Given the description of an element on the screen output the (x, y) to click on. 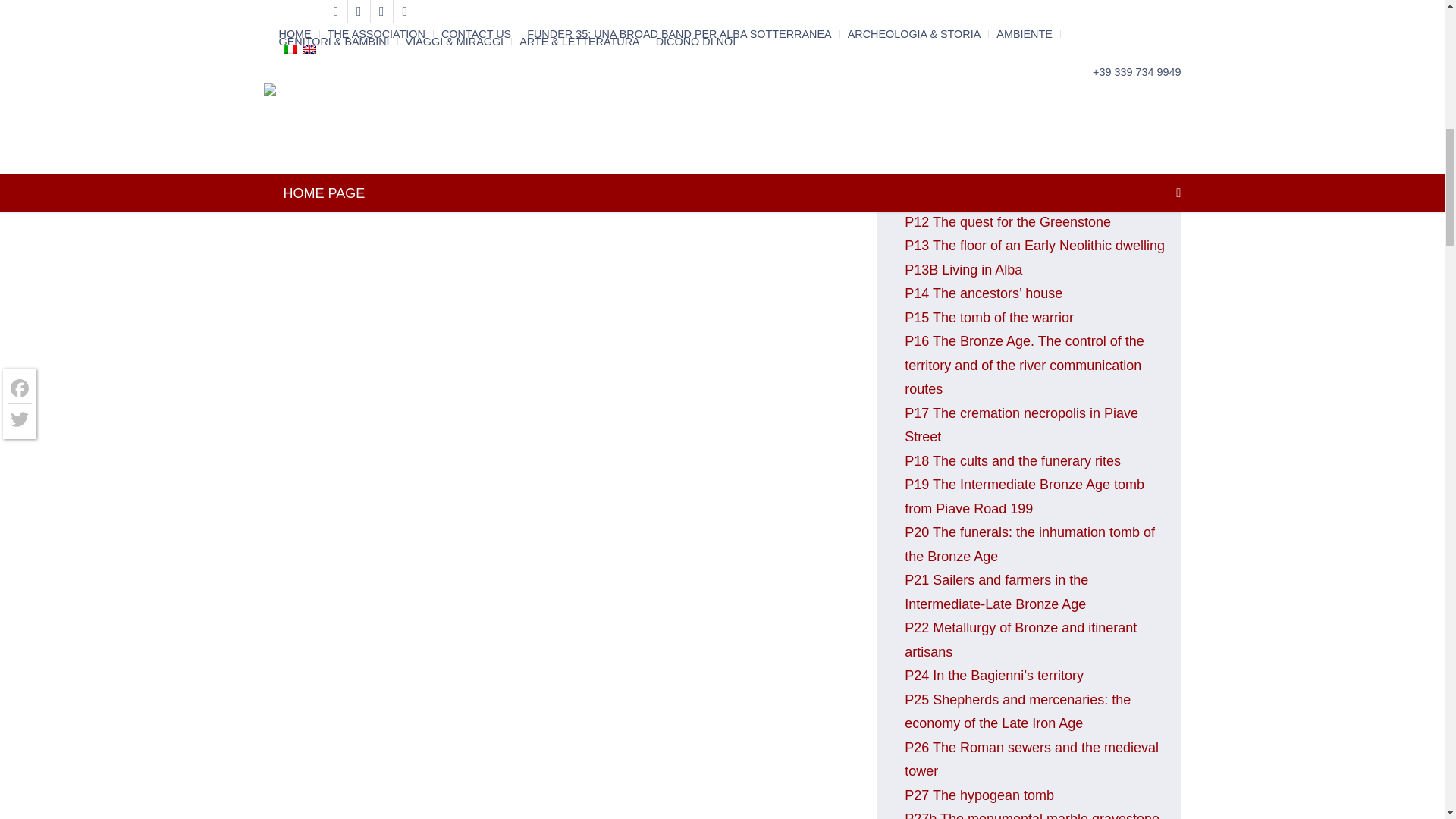
P8 The river Tanaro and its geological environment (1019, 7)
P11 The booming of the Neolithic economy. (1005, 138)
